Given the description of an element on the screen output the (x, y) to click on. 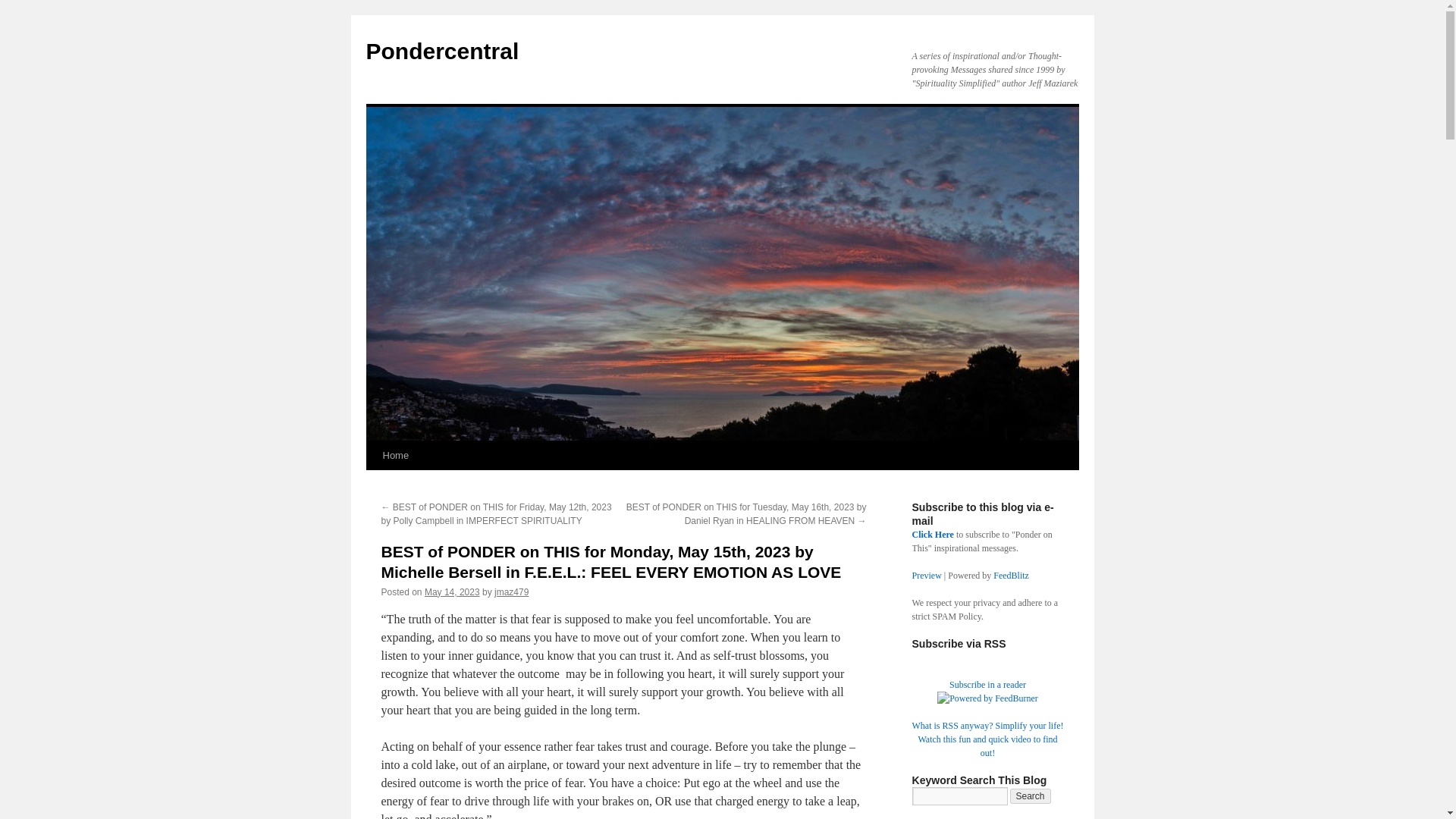
Home (395, 455)
FeedBlitz (1010, 575)
Skip to content (372, 483)
View all posts by jmaz479 (511, 592)
Click Here (932, 534)
Subscribe in a reader (987, 684)
jmaz479 (511, 592)
Search (1030, 795)
May 14, 2023 (452, 592)
9:00 pm (452, 592)
Preview (925, 575)
Subscribe to my feed (987, 684)
Search (1030, 795)
Pondercentral (441, 50)
